Given the description of an element on the screen output the (x, y) to click on. 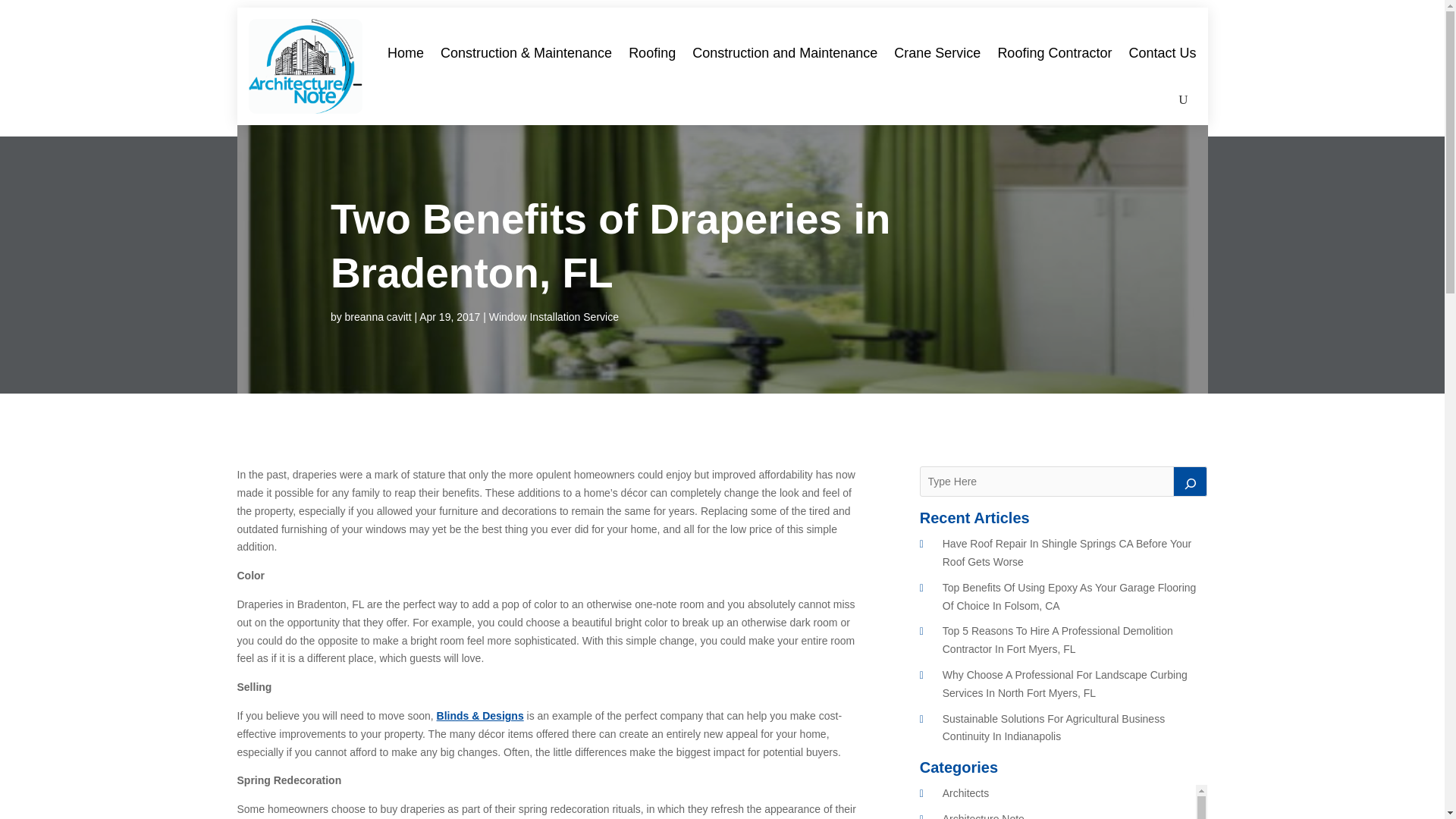
Architecture Note (983, 816)
Construction and Maintenance (785, 52)
Window Installation Service (553, 316)
Contact Us (1161, 52)
Architects (965, 793)
Roofing Contractor (1054, 52)
breanna cavitt (378, 316)
Crane Service (936, 52)
Posts by breanna cavitt (378, 316)
